Given the description of an element on the screen output the (x, y) to click on. 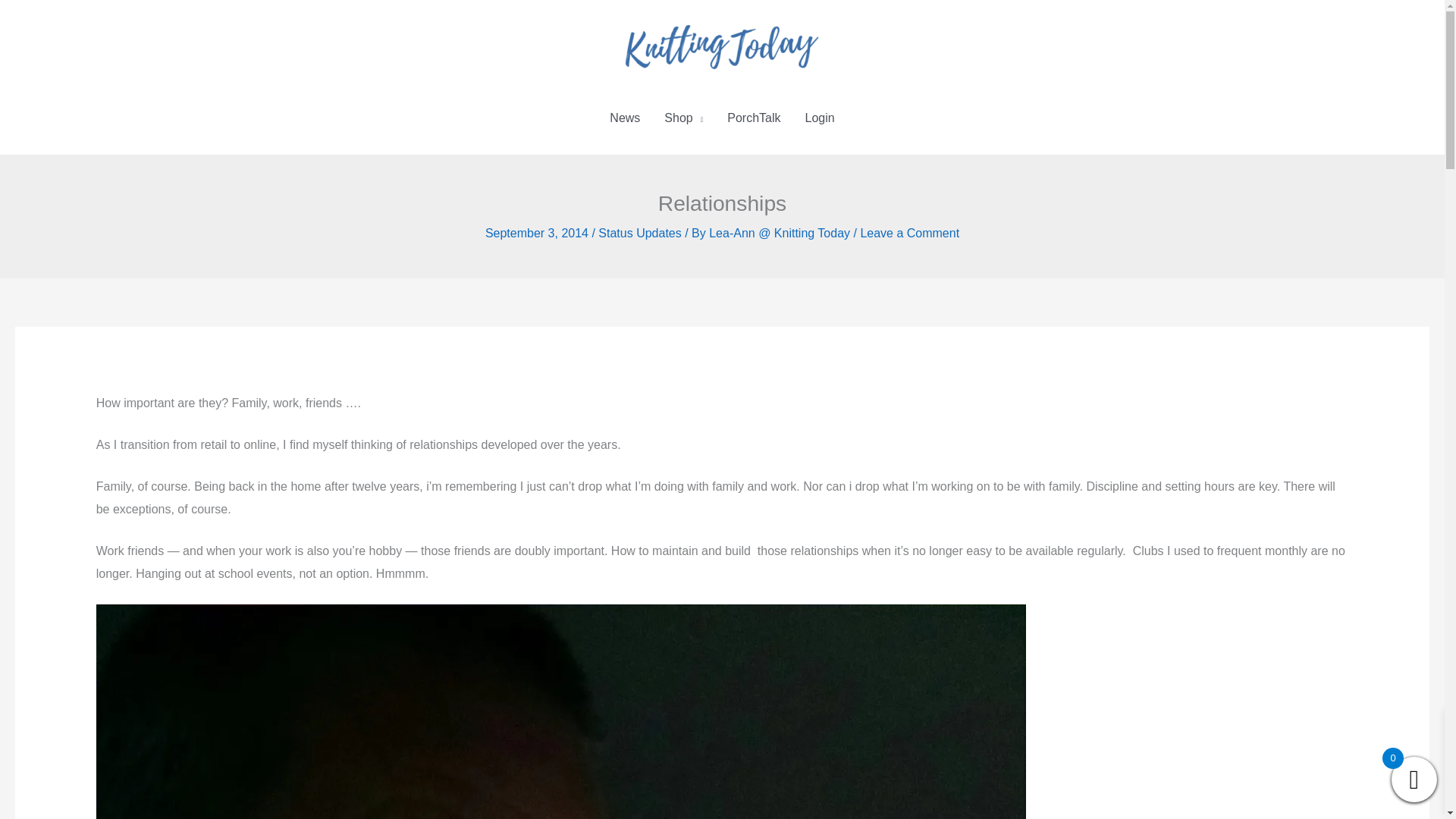
PorchTalk (753, 118)
Leave a Comment (909, 232)
Login (820, 118)
Status Updates (639, 232)
Shop (683, 118)
News (624, 118)
